Given the description of an element on the screen output the (x, y) to click on. 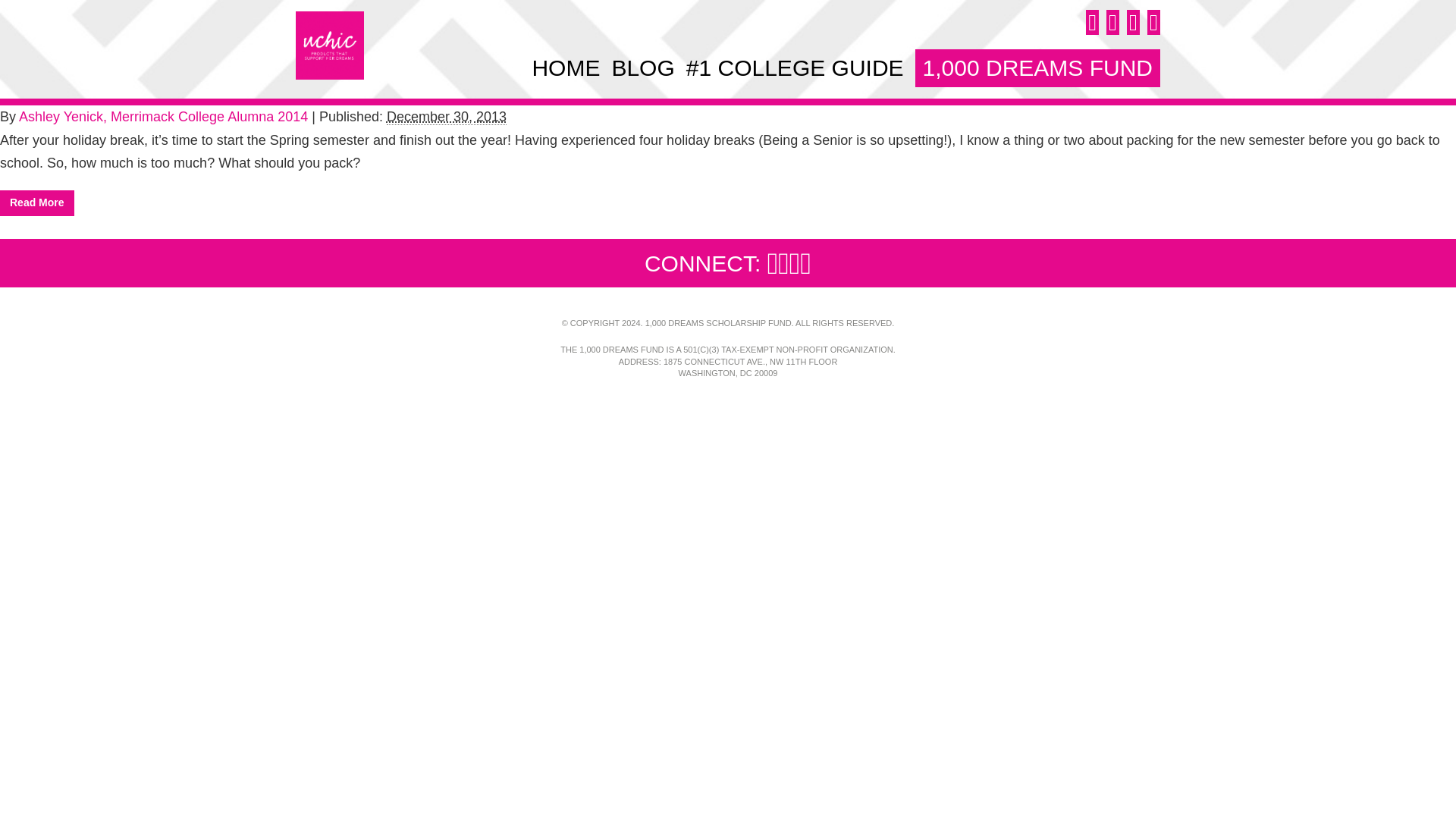
UChic (329, 45)
1,000 DREAMS FUND (1037, 67)
BLOG (642, 67)
2013-12-30T14:09:17-0500 (446, 116)
Read More (37, 203)
Home (565, 67)
Blog (642, 67)
1,000 Dreams Fund (1037, 67)
HOME (565, 67)
Ashley Yenick, Merrimack College Alumna 2014 (162, 116)
